Given the description of an element on the screen output the (x, y) to click on. 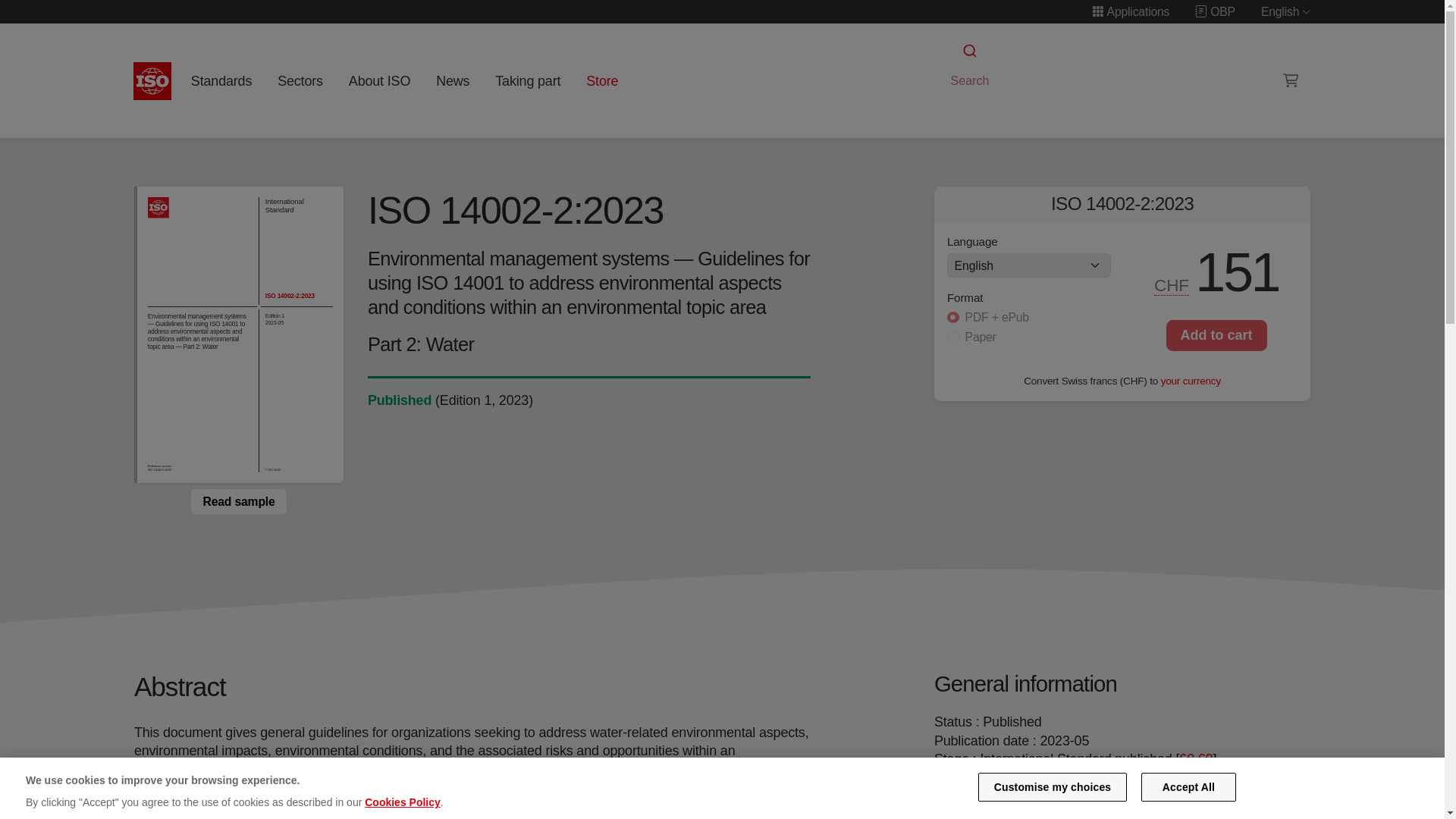
Life cycle (398, 400)
60.60 (1195, 758)
English (1285, 11)
 OBP (1214, 11)
Swiss francs (1171, 285)
Taking part (528, 80)
Online Browsing Platform (1214, 11)
your currency (1190, 379)
Shopping cart (1290, 80)
International Organization for Standardization (152, 80)
Read sample (237, 501)
